Given the description of an element on the screen output the (x, y) to click on. 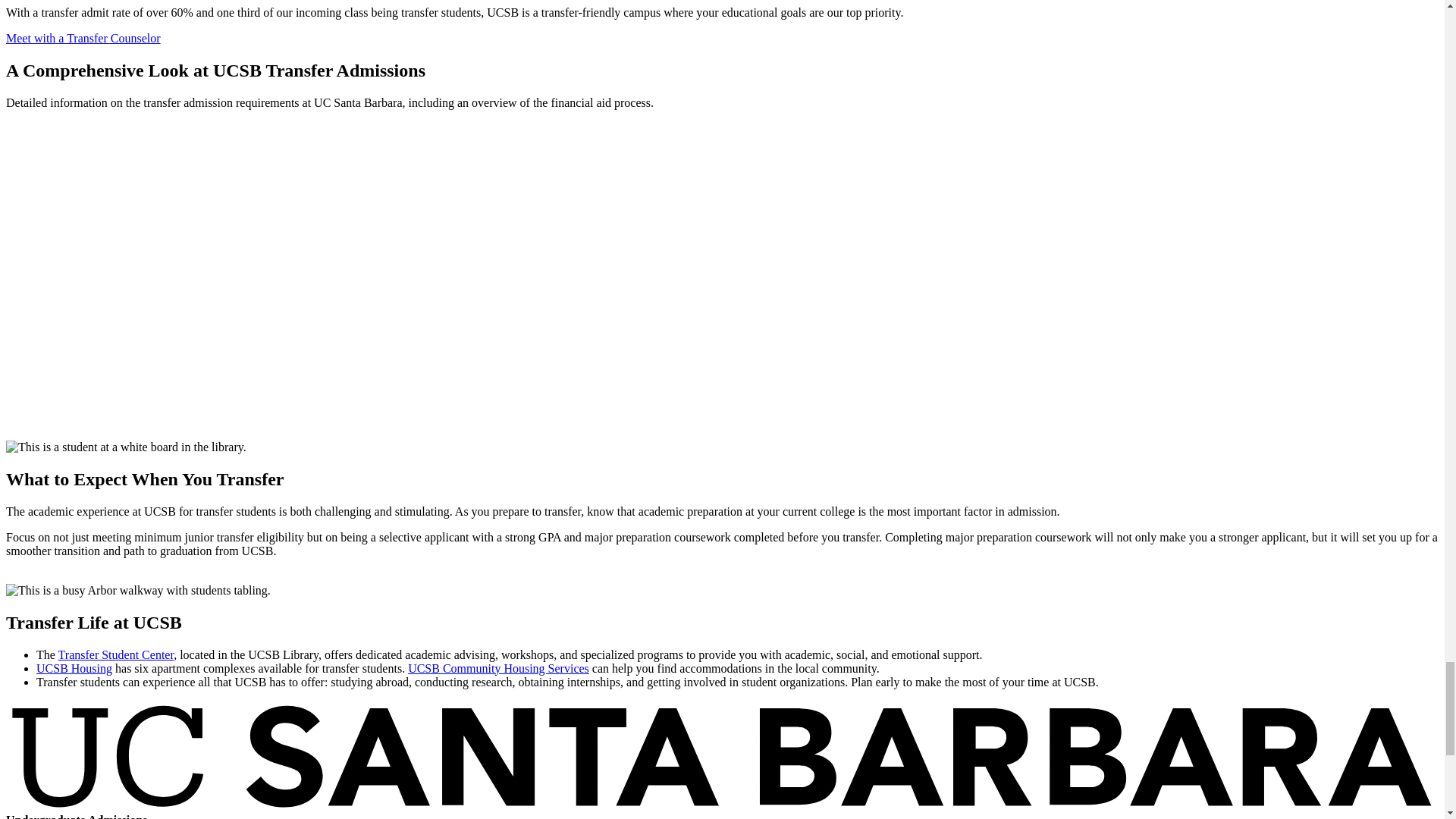
YouTube video player (217, 273)
